Given the description of an element on the screen output the (x, y) to click on. 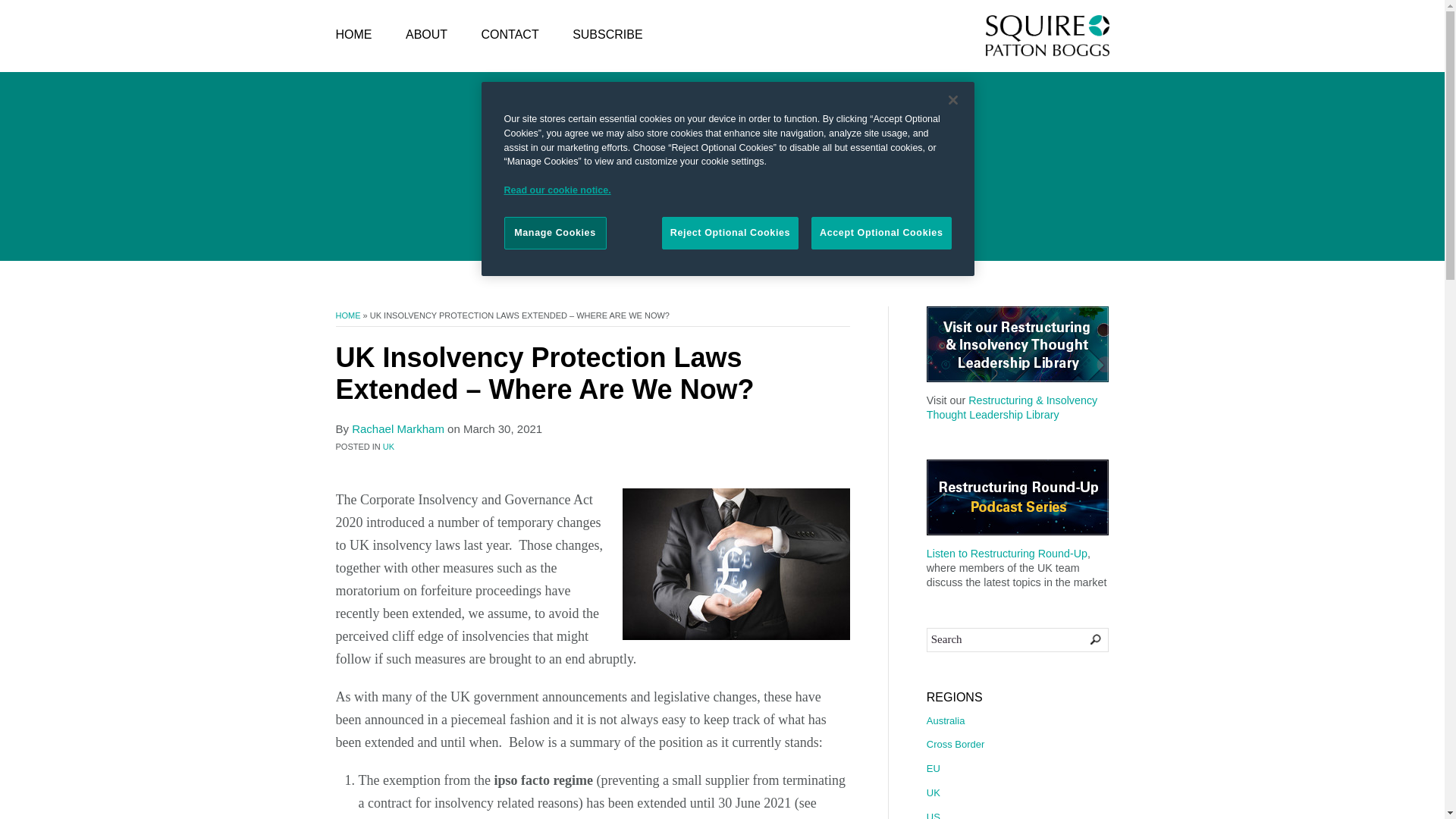
US (1017, 812)
HOME (346, 315)
Restructuring GlobalView (721, 157)
Australia (1017, 723)
Go (1085, 639)
Listen to Restructuring Round-Up (1006, 553)
Rachael Markham (398, 428)
Squire Patton Boggs (1047, 35)
HOME (352, 34)
Search (1017, 639)
Cross Border (1017, 744)
CONTACT (509, 34)
UK (388, 446)
UK (1017, 793)
SUBSCRIBE (607, 34)
